Given the description of an element on the screen output the (x, y) to click on. 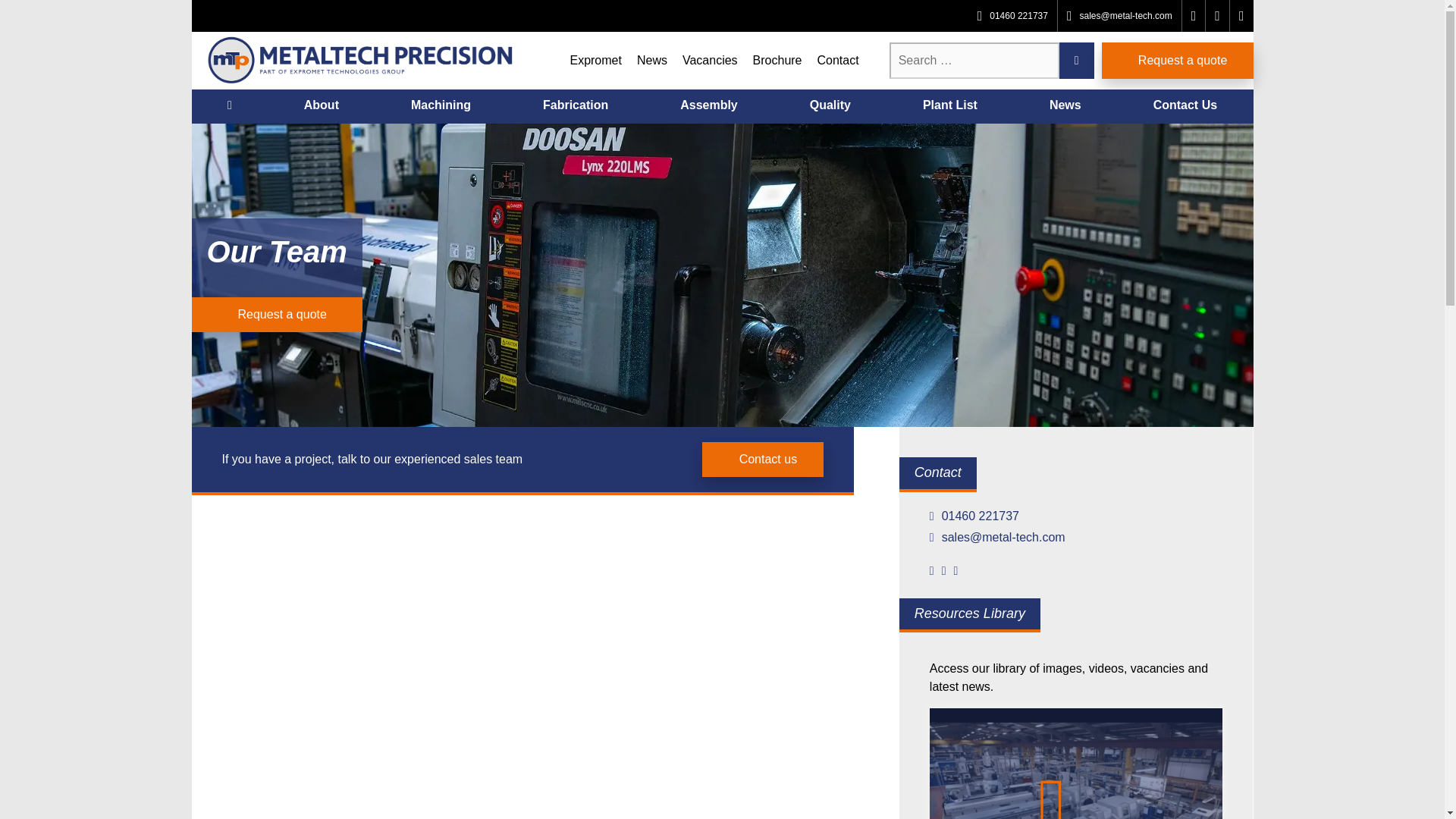
01460 221737 (1013, 15)
Metaltech Logo (360, 60)
Fabrication (575, 106)
Contact us (762, 459)
Plant List (949, 106)
01460 221737 (1076, 515)
News (1064, 106)
Machining (440, 106)
Contact Us (1184, 106)
Brochure (777, 60)
About (320, 106)
Quality (829, 106)
Expromet (595, 60)
Vacancies (710, 60)
Contact (837, 60)
